Given the description of an element on the screen output the (x, y) to click on. 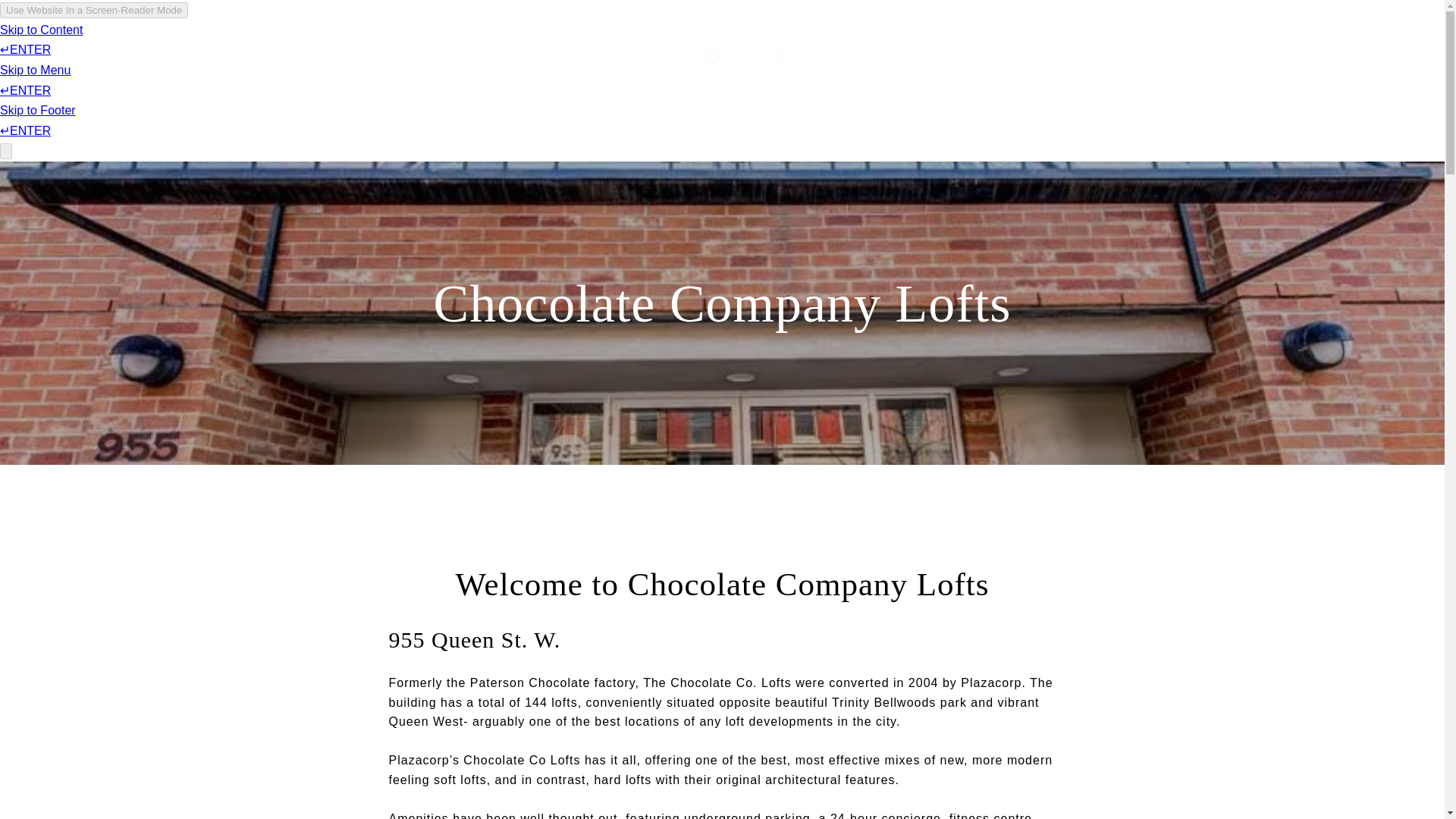
YOUTUBE (781, 55)
TWITTER (746, 55)
CONTACT US (994, 55)
FACEBOOK (641, 55)
LINKEDIN (711, 55)
INSTAGRAM (676, 55)
PROPERTIES (900, 55)
HOME (826, 55)
